Given the description of an element on the screen output the (x, y) to click on. 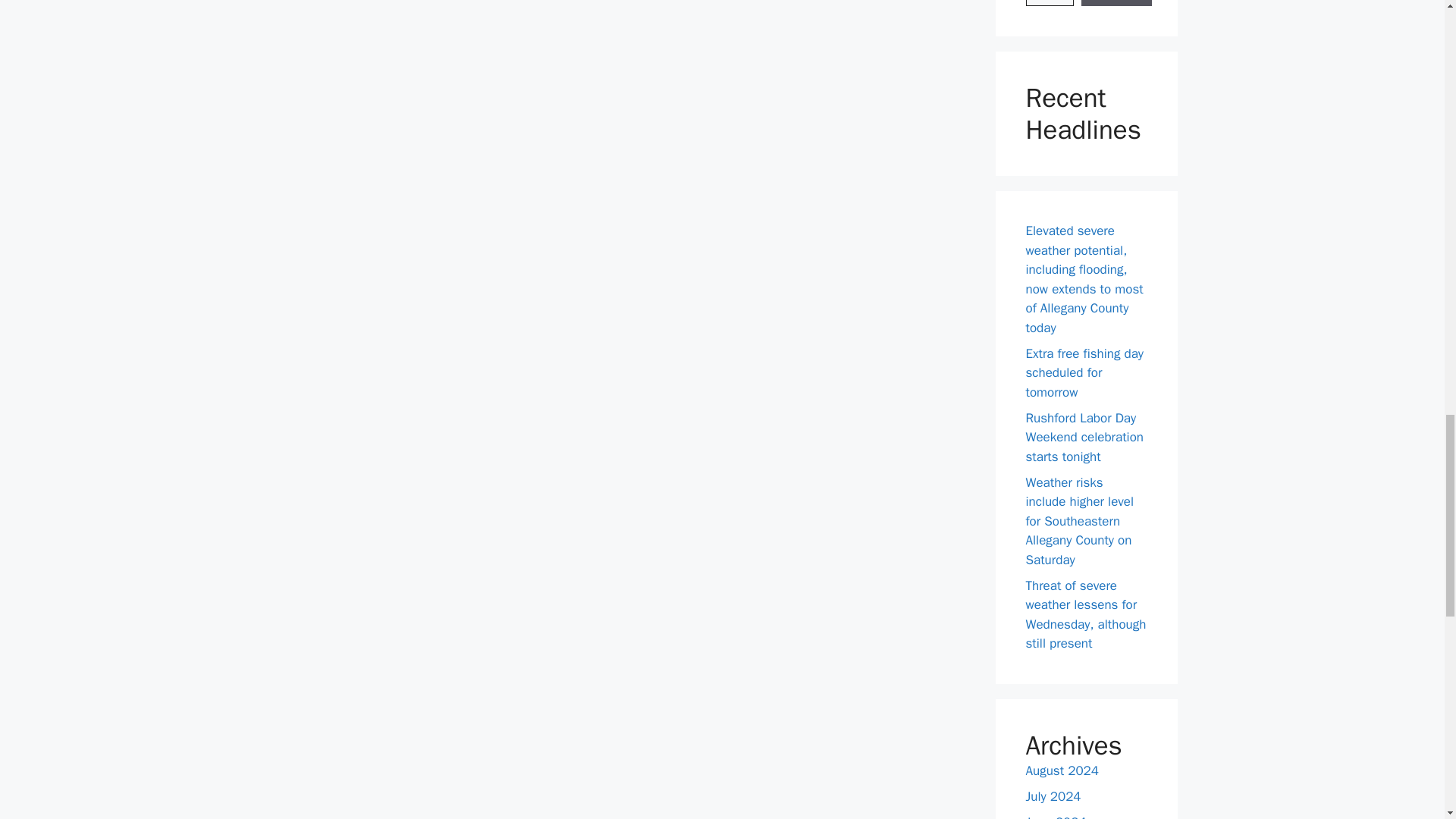
Extra free fishing day scheduled for tomorrow (1083, 372)
Search (1117, 3)
